Given the description of an element on the screen output the (x, y) to click on. 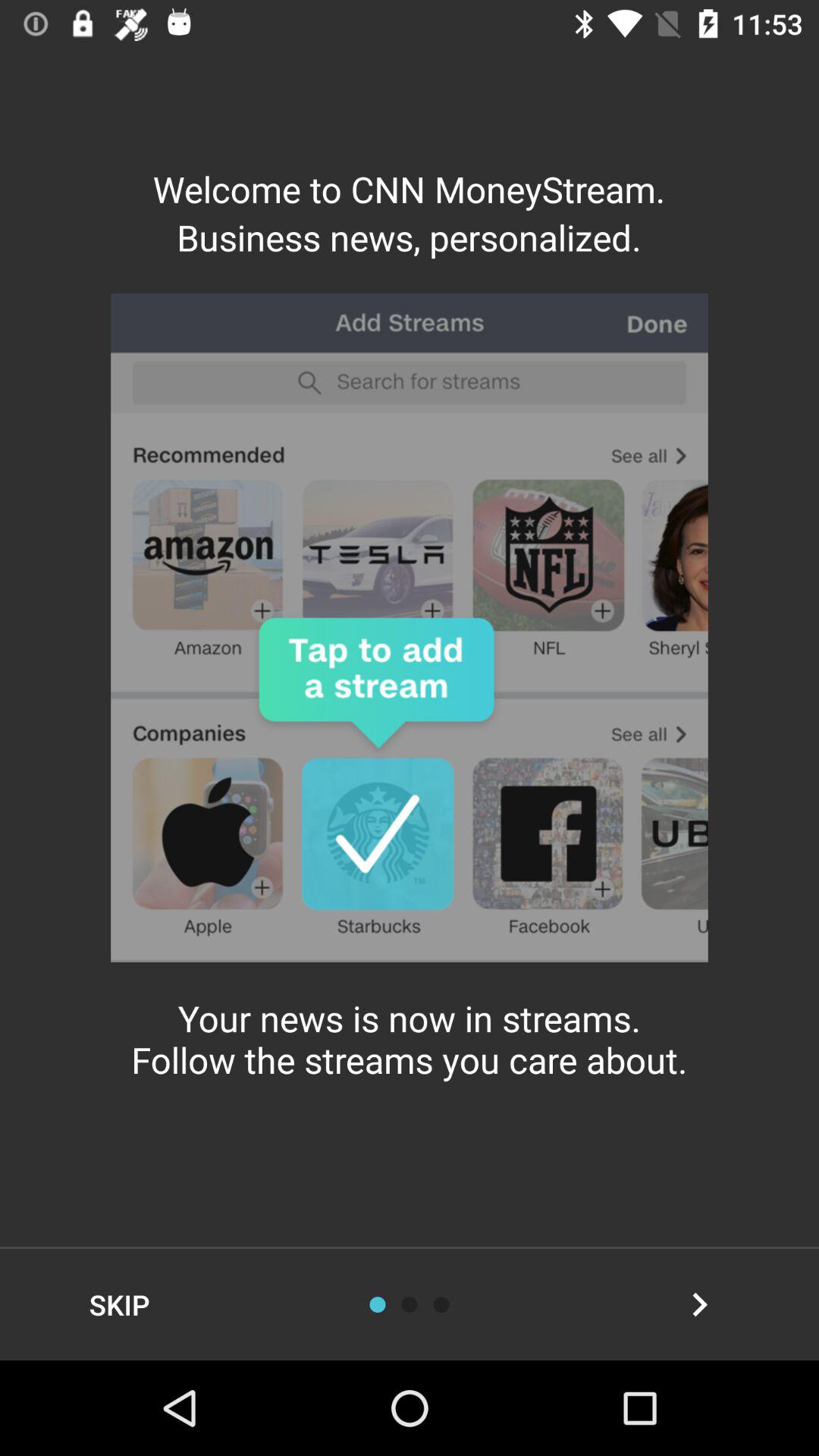
flip to skip item (119, 1304)
